Given the description of an element on the screen output the (x, y) to click on. 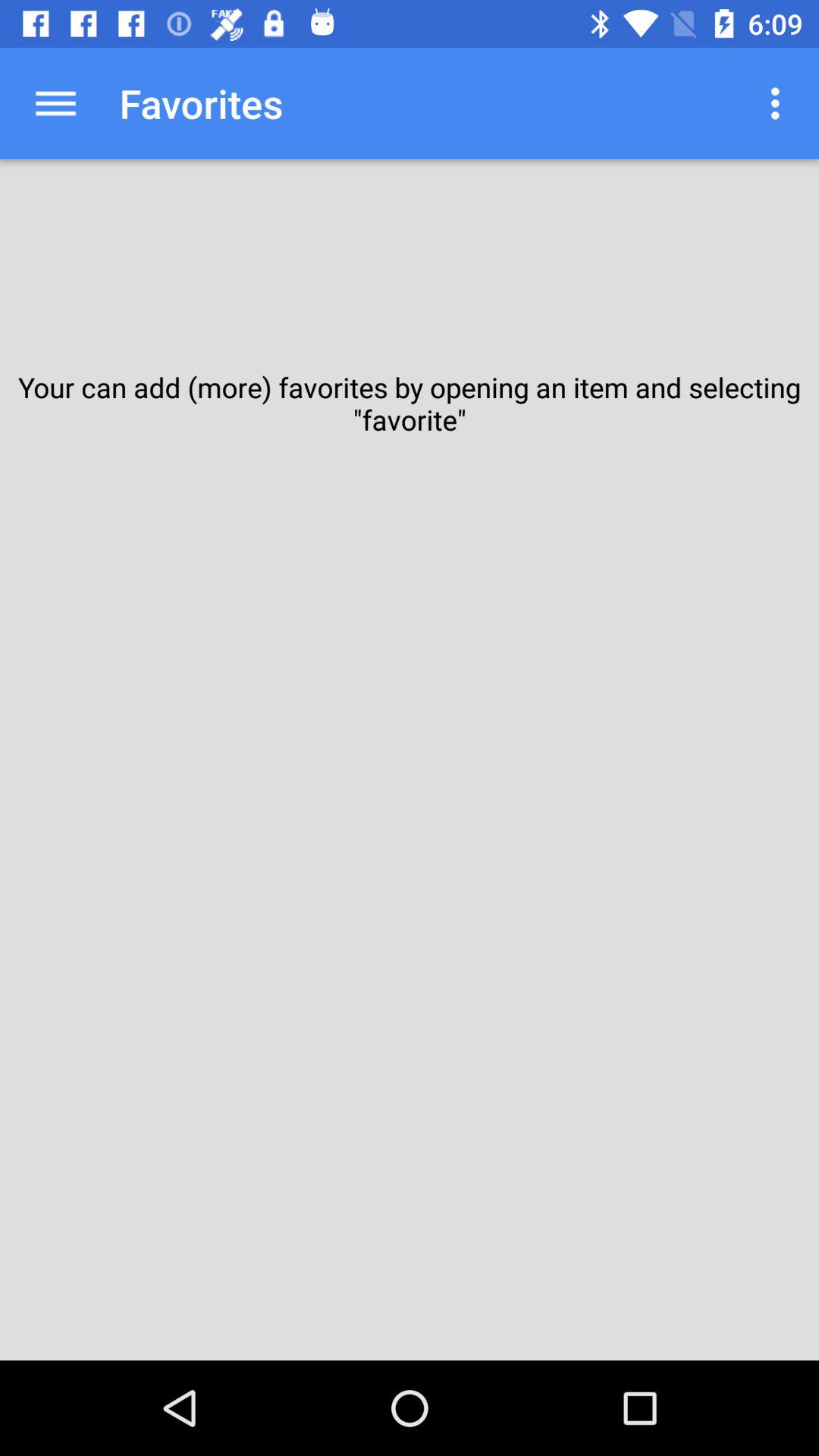
tap the item at the top right corner (779, 103)
